Given the description of an element on the screen output the (x, y) to click on. 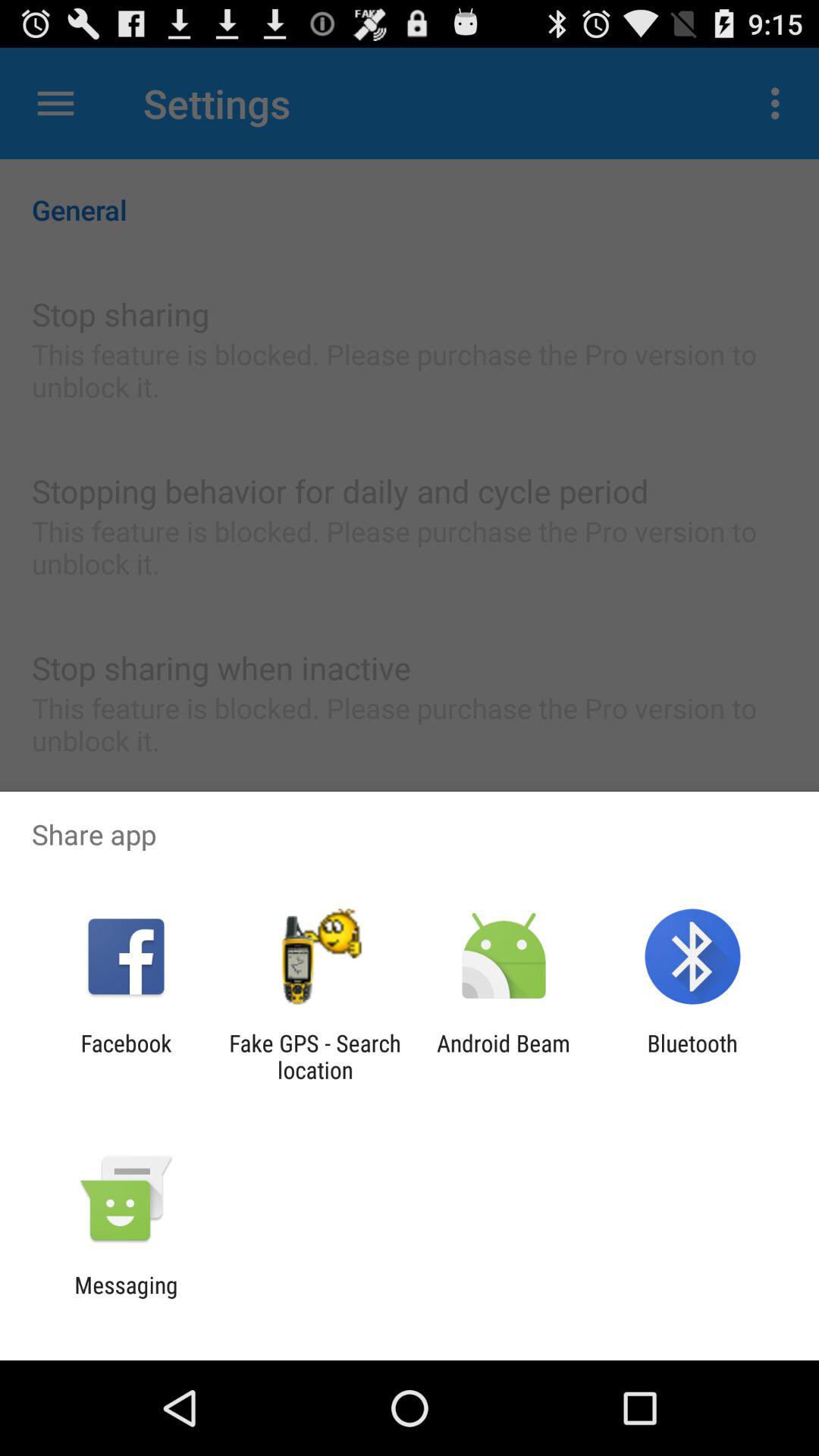
select the item to the right of the facebook item (314, 1056)
